Given the description of an element on the screen output the (x, y) to click on. 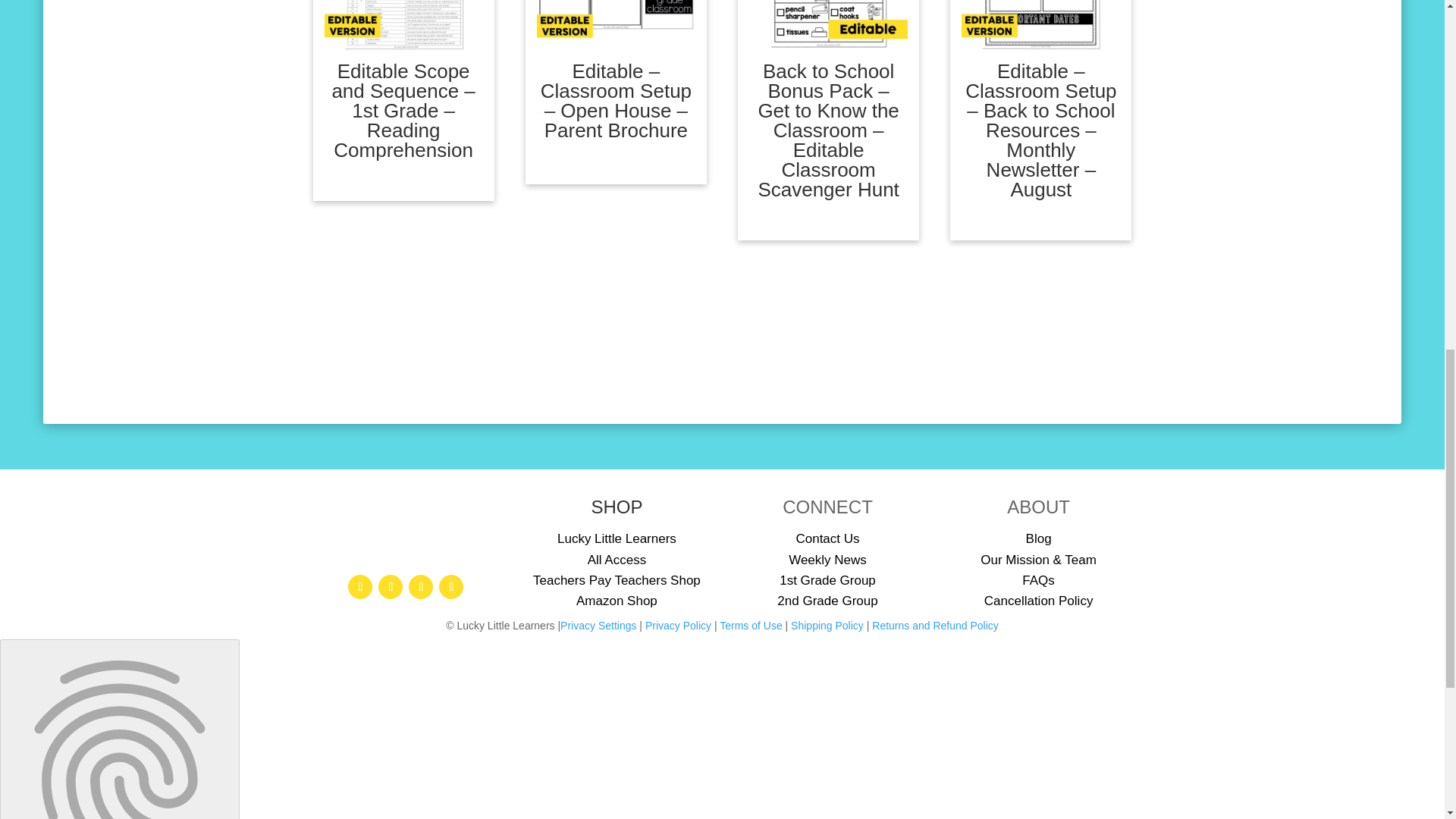
Follow on Facebook (359, 586)
Follow on Instagram (390, 586)
Follow on Youtube (451, 586)
all access membership library logo (405, 529)
Follow on Pinterest (420, 586)
